Given the description of an element on the screen output the (x, y) to click on. 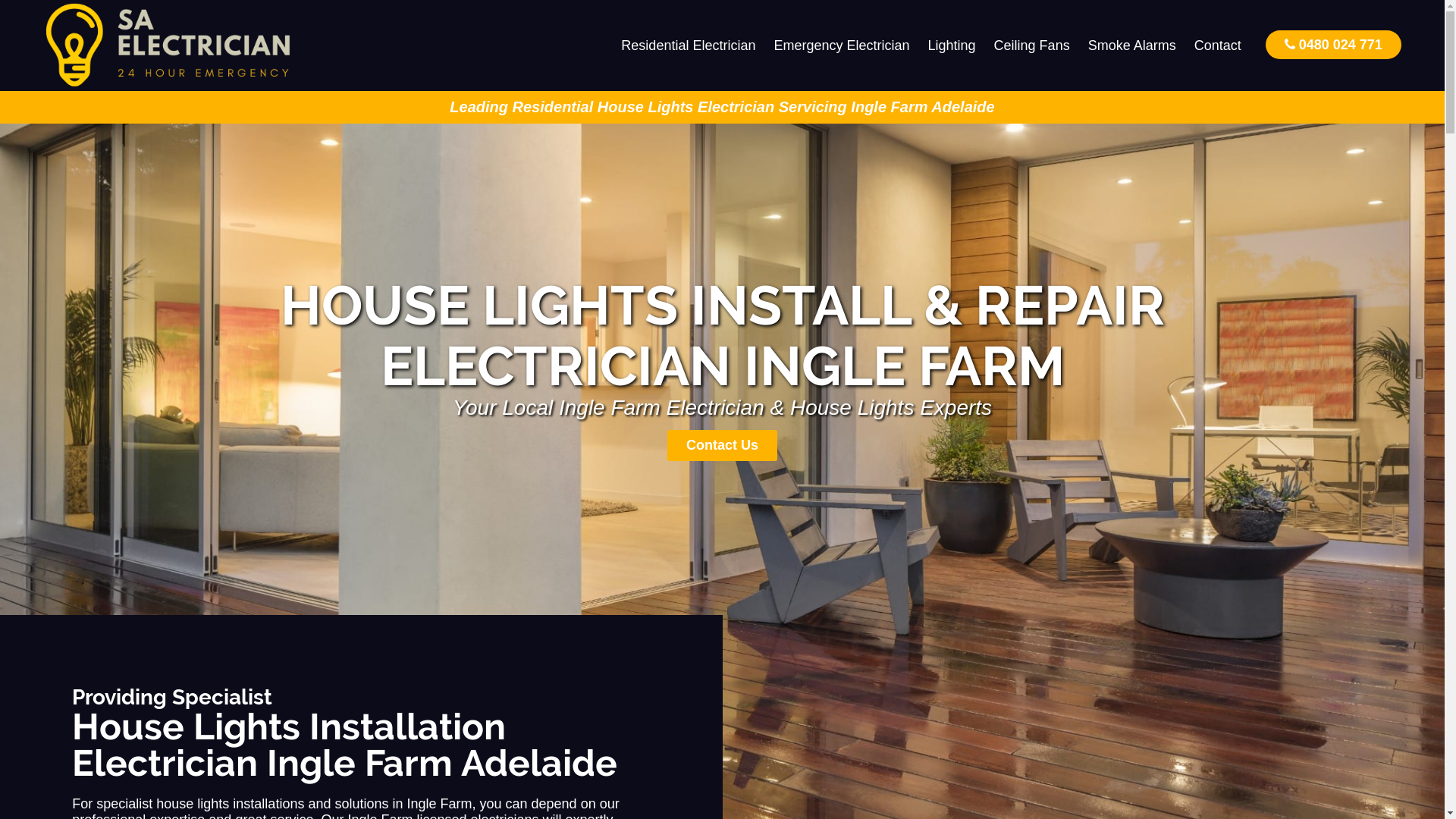
Emergency Electrician Element type: text (841, 45)
Residential Electrician Element type: text (687, 45)
Ceiling Fans Element type: text (1032, 45)
Lighting Element type: text (952, 45)
Contact Element type: text (1217, 45)
Contact Us Element type: text (722, 445)
Smoke Alarms Element type: text (1132, 45)
0480 024 771 Element type: text (1333, 44)
